Given the description of an element on the screen output the (x, y) to click on. 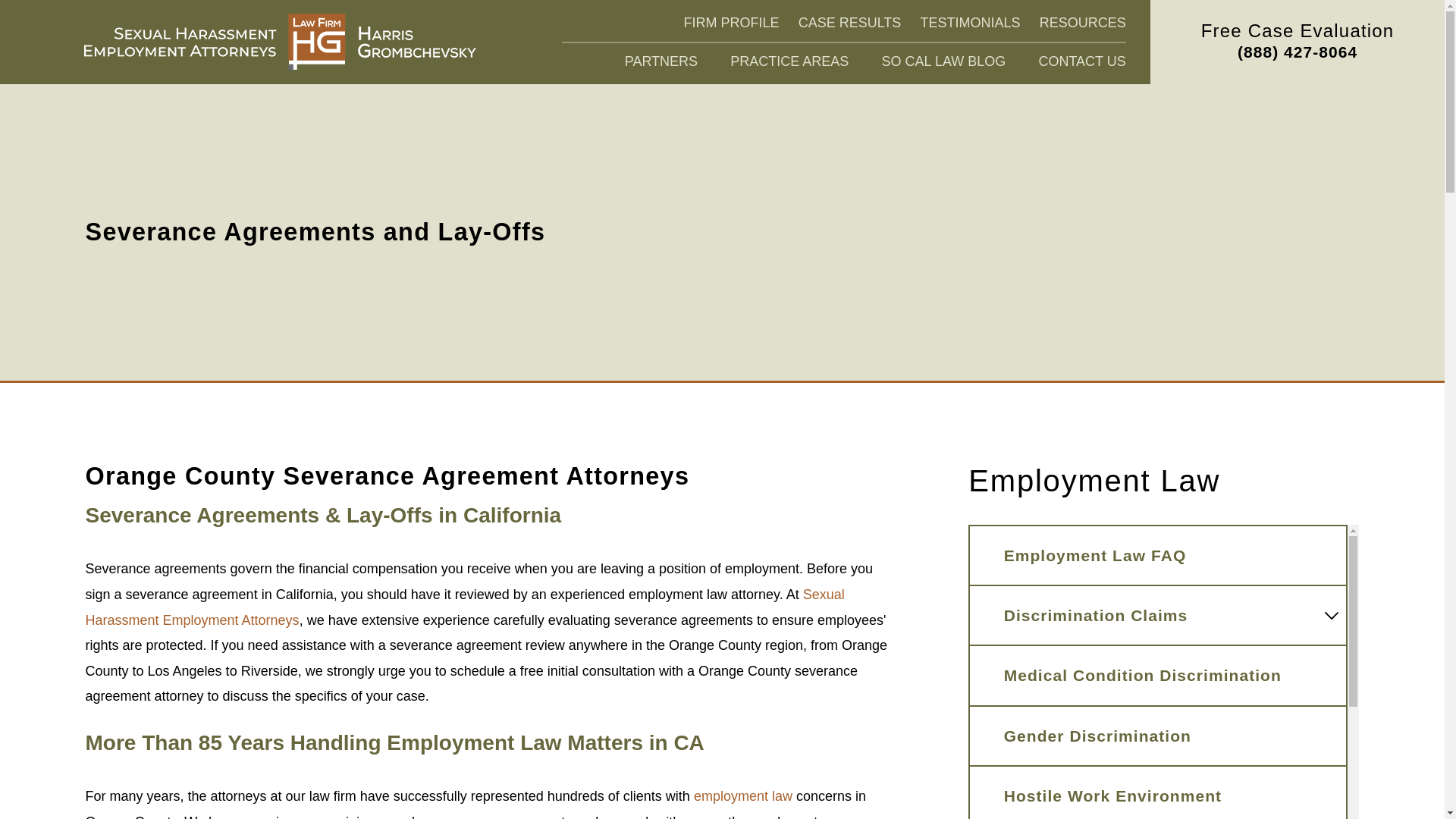
Open child menu of Discrimination Claims (1331, 615)
Sexual Harassment Employment Attorneys (280, 41)
CASE RESULTS (849, 22)
PARTNERS (660, 62)
TESTIMONIALS (970, 22)
PRACTICE AREAS (789, 62)
RESOURCES (1082, 22)
SO CAL LAW BLOG (944, 62)
Open the accessibility options menu (1412, 786)
FIRM PROFILE (730, 22)
